Given the description of an element on the screen output the (x, y) to click on. 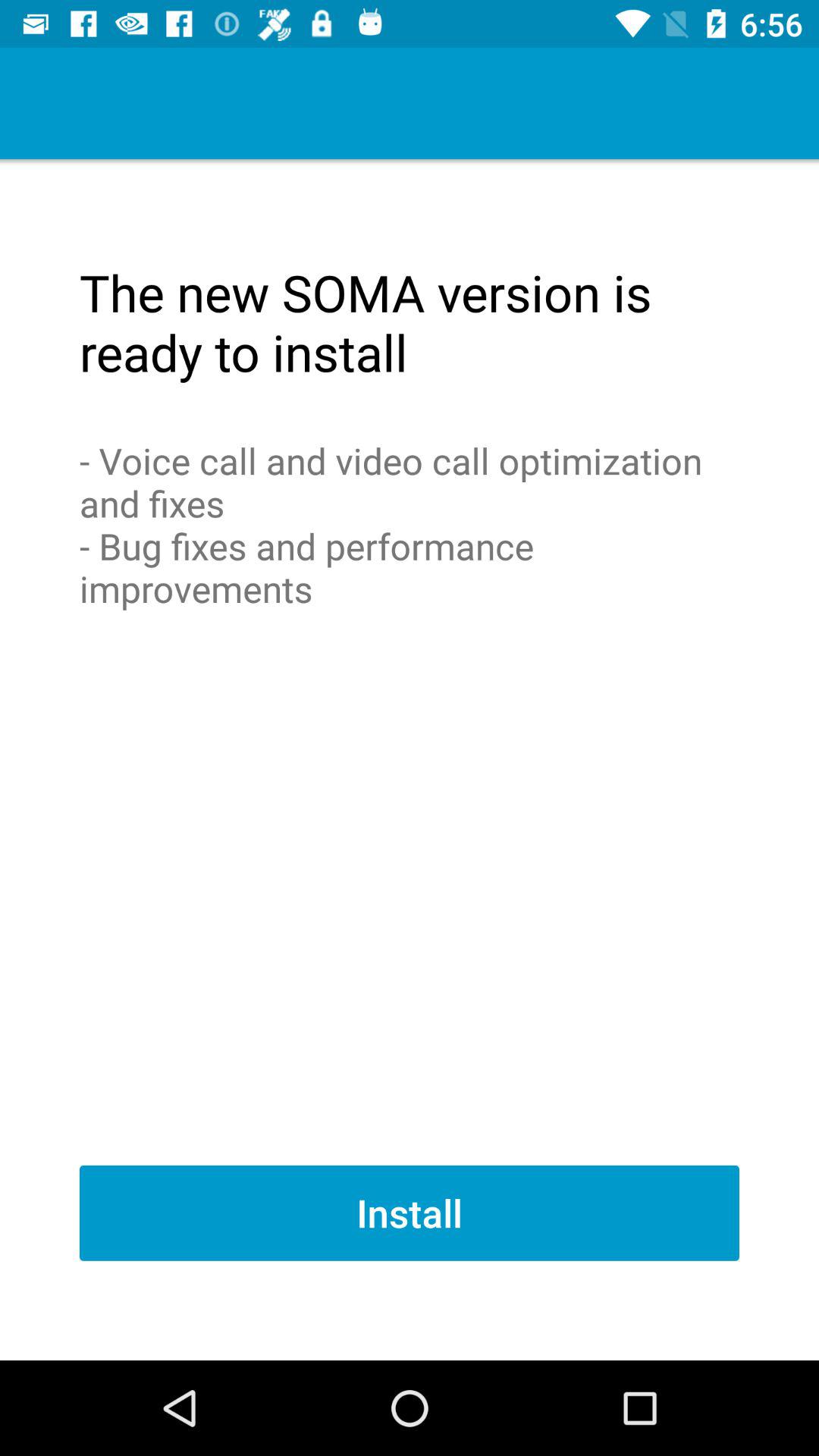
launch the voice call and at the center (409, 524)
